Given the description of an element on the screen output the (x, y) to click on. 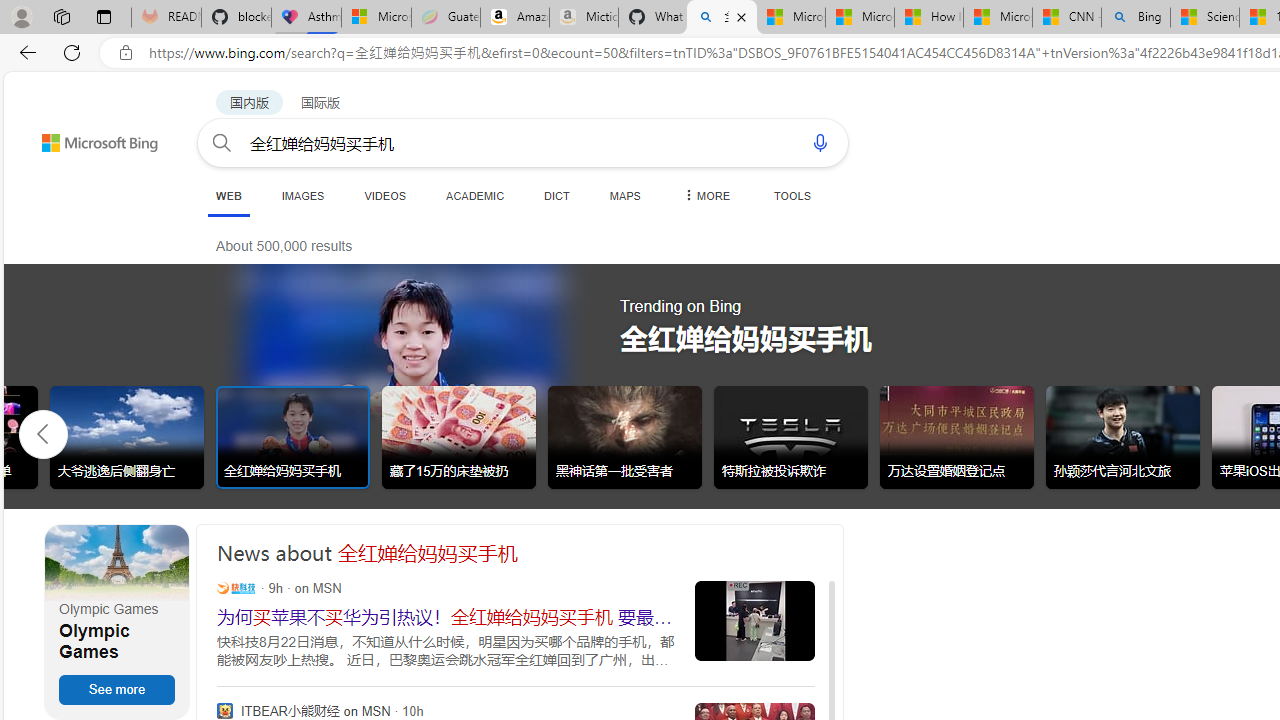
ACADEMIC (475, 195)
MAPS (624, 195)
MORE (705, 195)
TOOLS (792, 195)
Click to scroll left (43, 432)
TOOLS (792, 195)
ACADEMIC (475, 195)
